Given the description of an element on the screen output the (x, y) to click on. 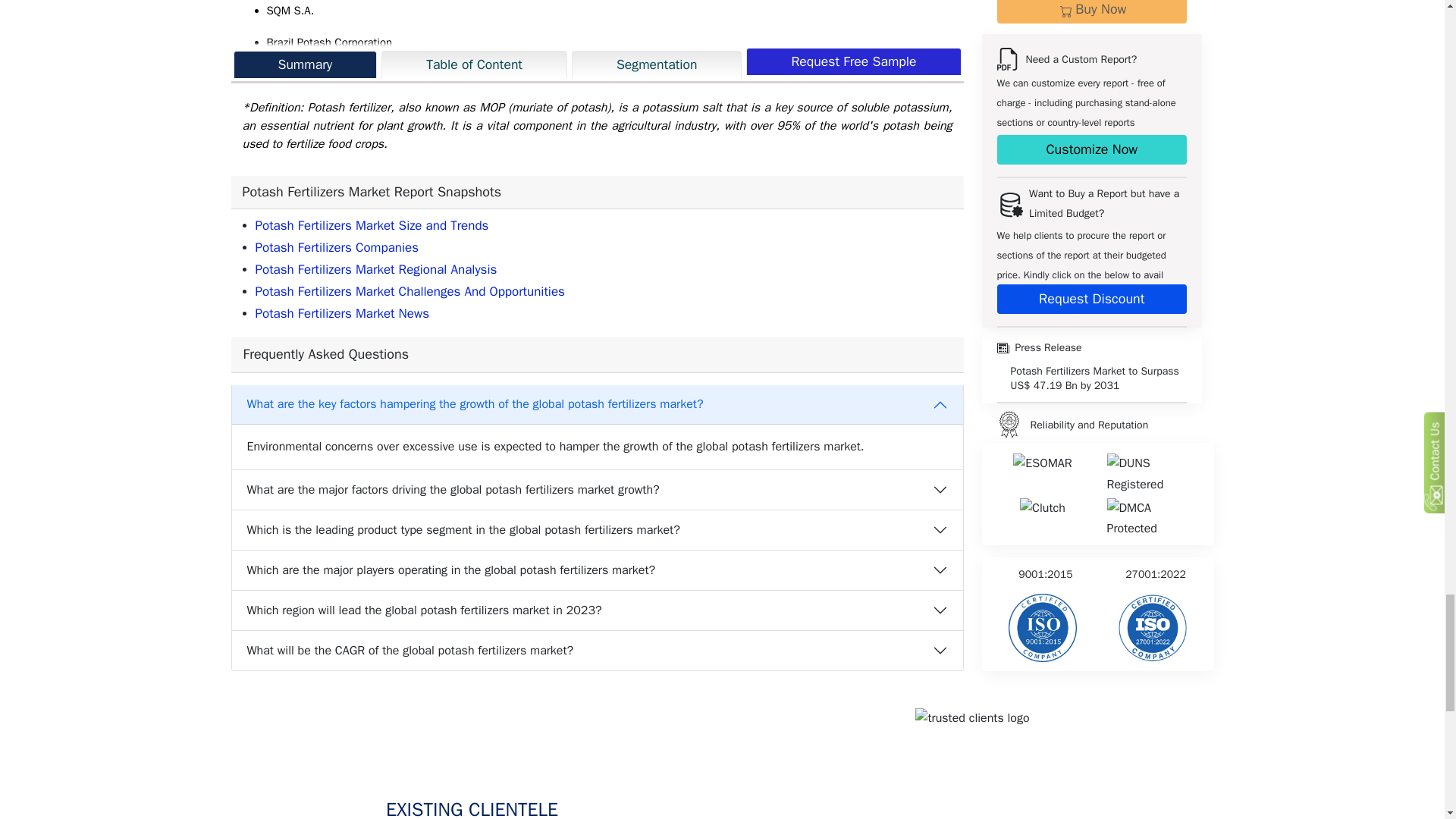
Potash Fertilizers Market Market Size and Trends (370, 225)
Potash Fertilizers Market Market News (341, 313)
Potash Fertilizers Market Companies (336, 247)
Potash Fertilizers Market Market Regional Insights (375, 269)
